Given the description of an element on the screen output the (x, y) to click on. 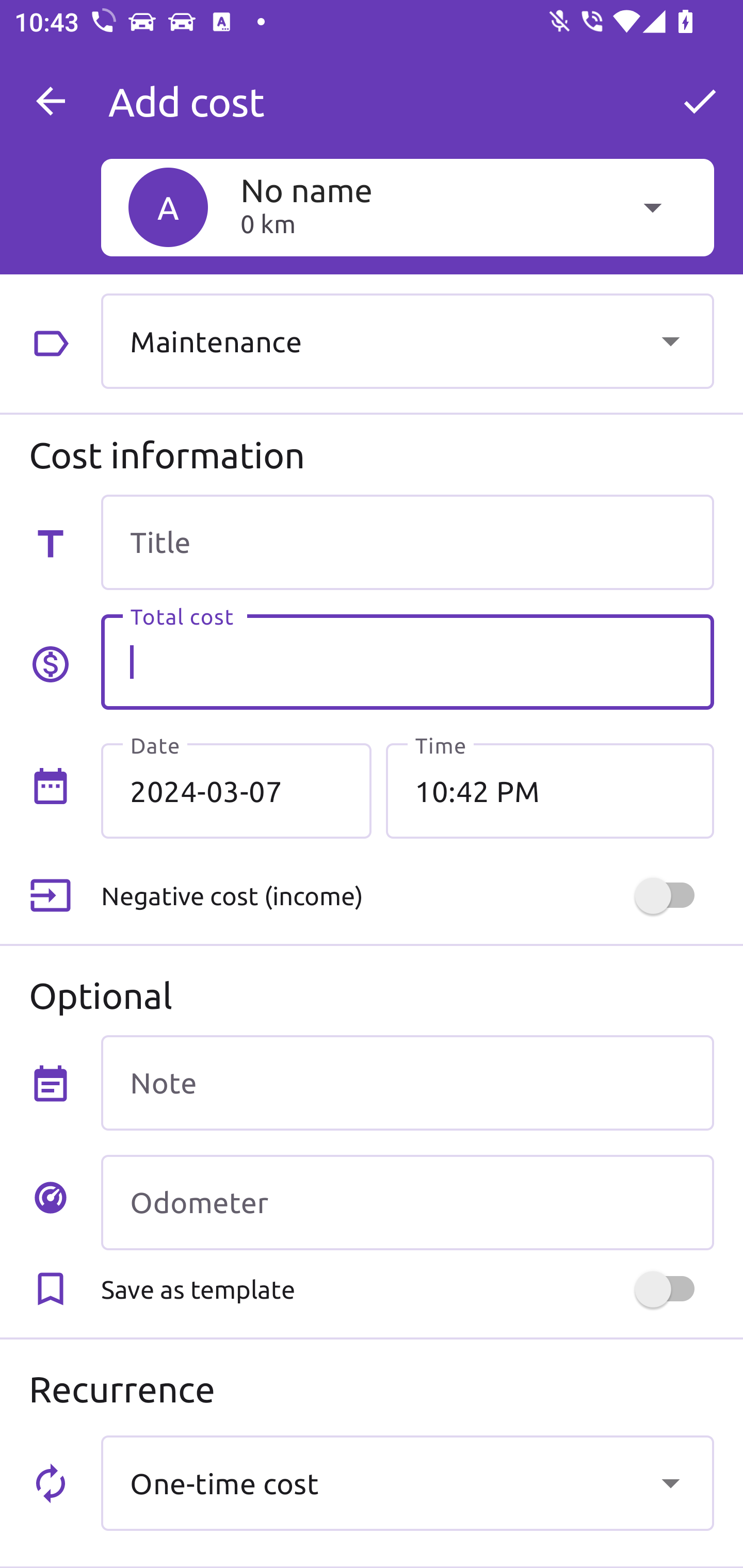
Navigate up (50, 101)
OK (699, 101)
A No name 0 km (407, 206)
Maintenance (407, 340)
Show dropdown menu (670, 340)
Title (407, 541)
Total cost  (407, 662)
2024-03-07 (236, 790)
10:42 PM (549, 790)
Negative cost (income) (407, 895)
Note (407, 1082)
Odometer (407, 1202)
Save as template (407, 1289)
One-time cost (407, 1482)
Show dropdown menu (670, 1482)
